Given the description of an element on the screen output the (x, y) to click on. 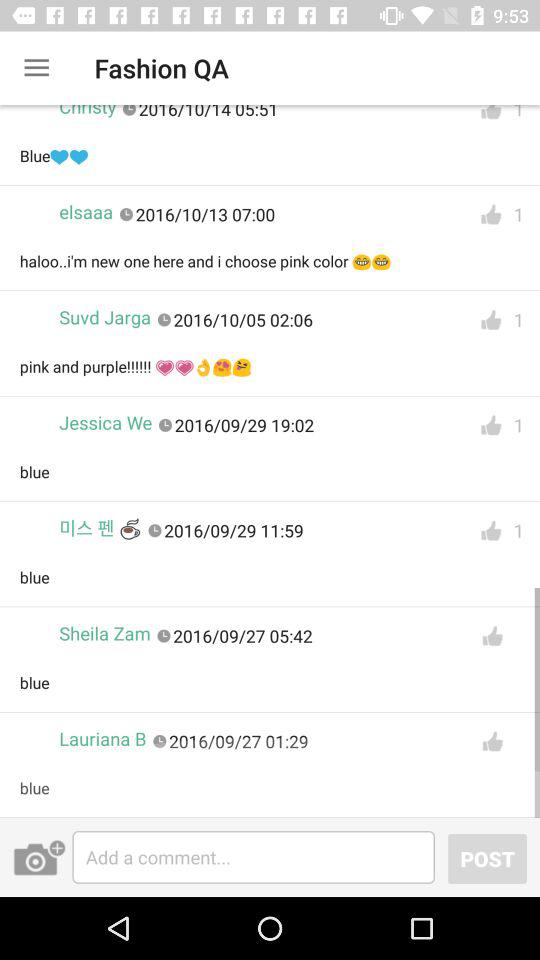
thumbs up button that you liked the content of message (491, 530)
